Given the description of an element on the screen output the (x, y) to click on. 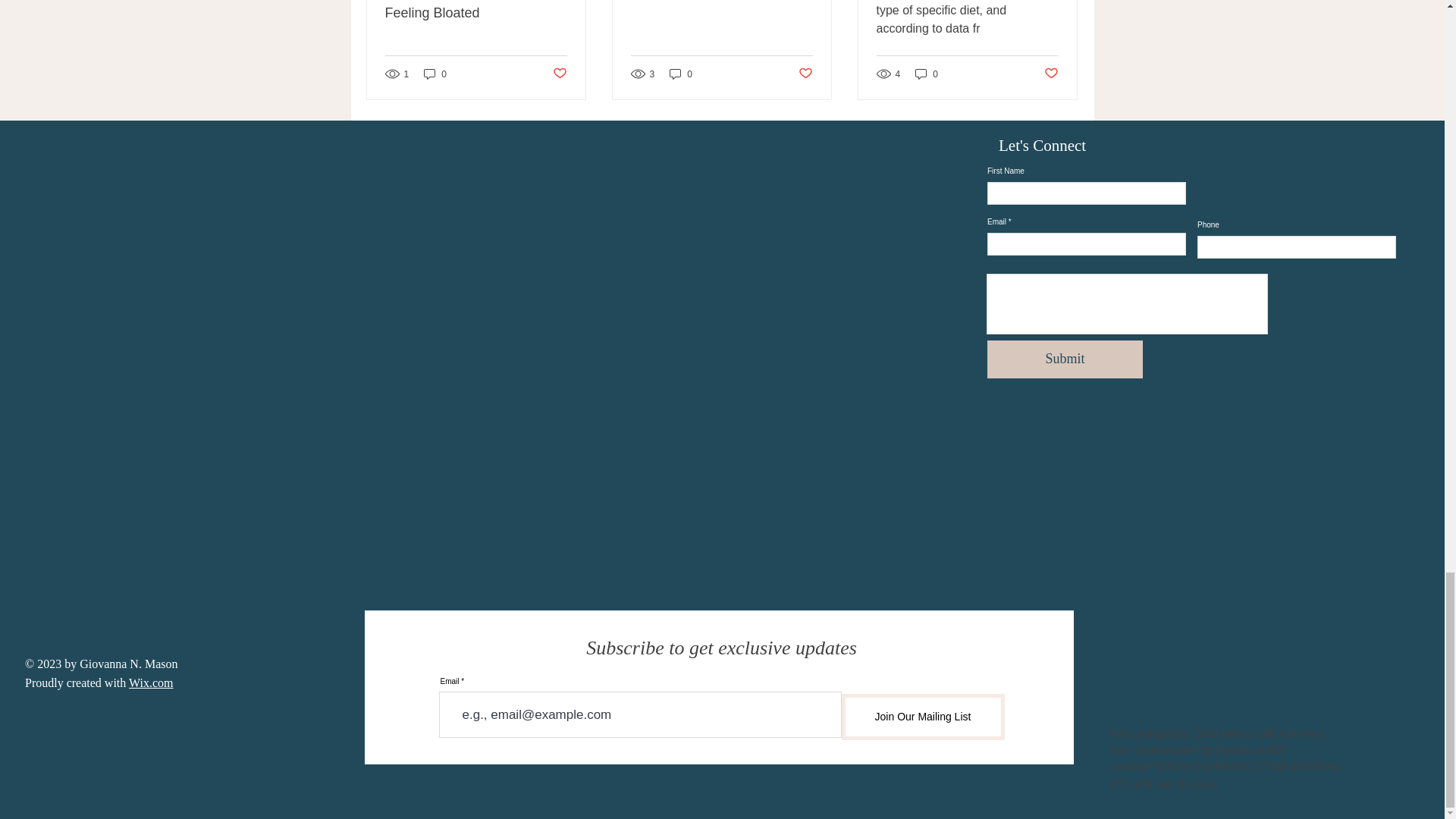
Post not marked as liked (558, 73)
Post not marked as liked (804, 73)
Wix.com (151, 682)
Feeling Bloated (476, 12)
0 (435, 73)
0 (926, 73)
0 (681, 73)
Post not marked as liked (1050, 73)
